Given the description of an element on the screen output the (x, y) to click on. 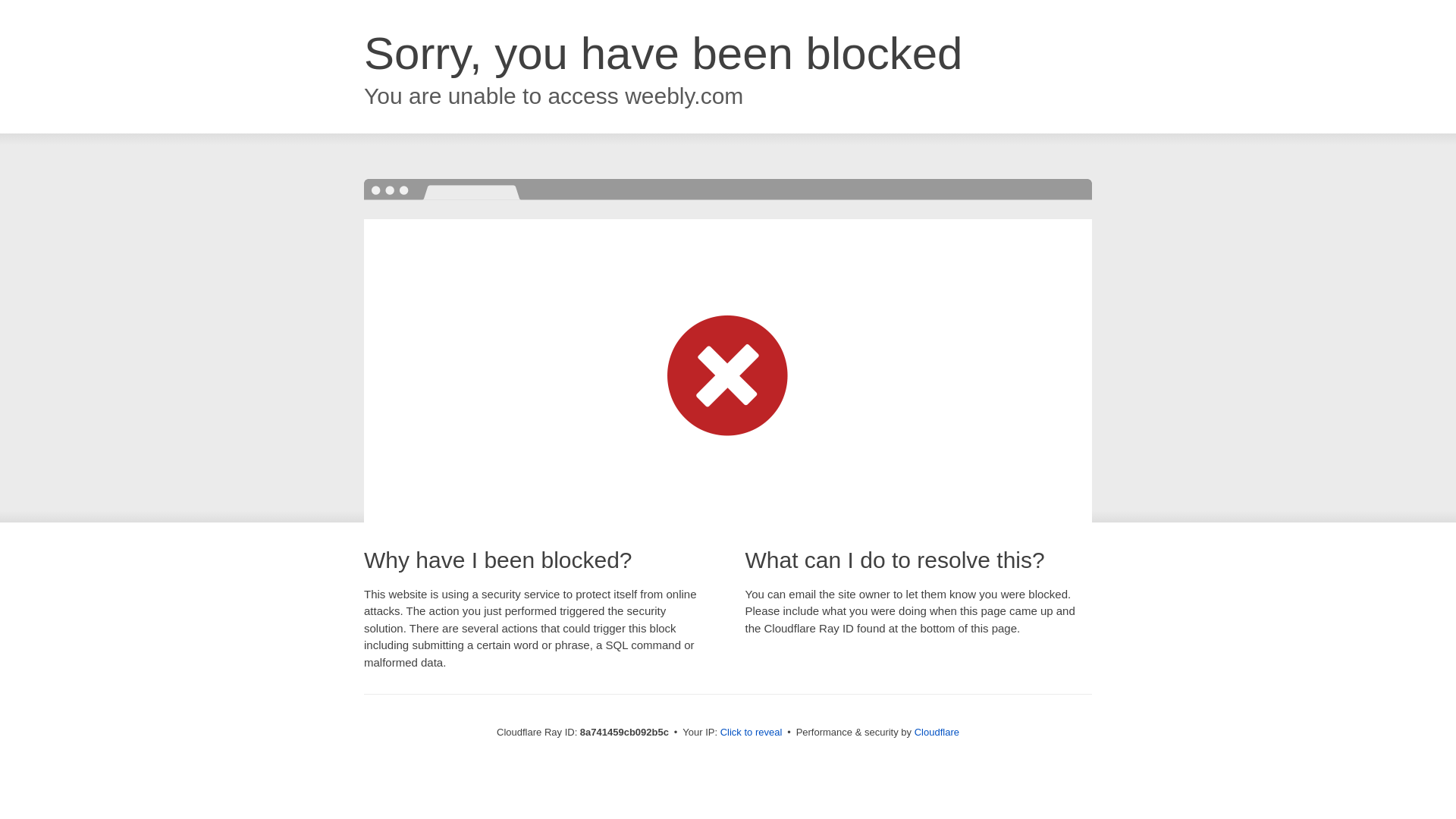
Cloudflare (936, 731)
Click to reveal (751, 732)
